Given the description of an element on the screen output the (x, y) to click on. 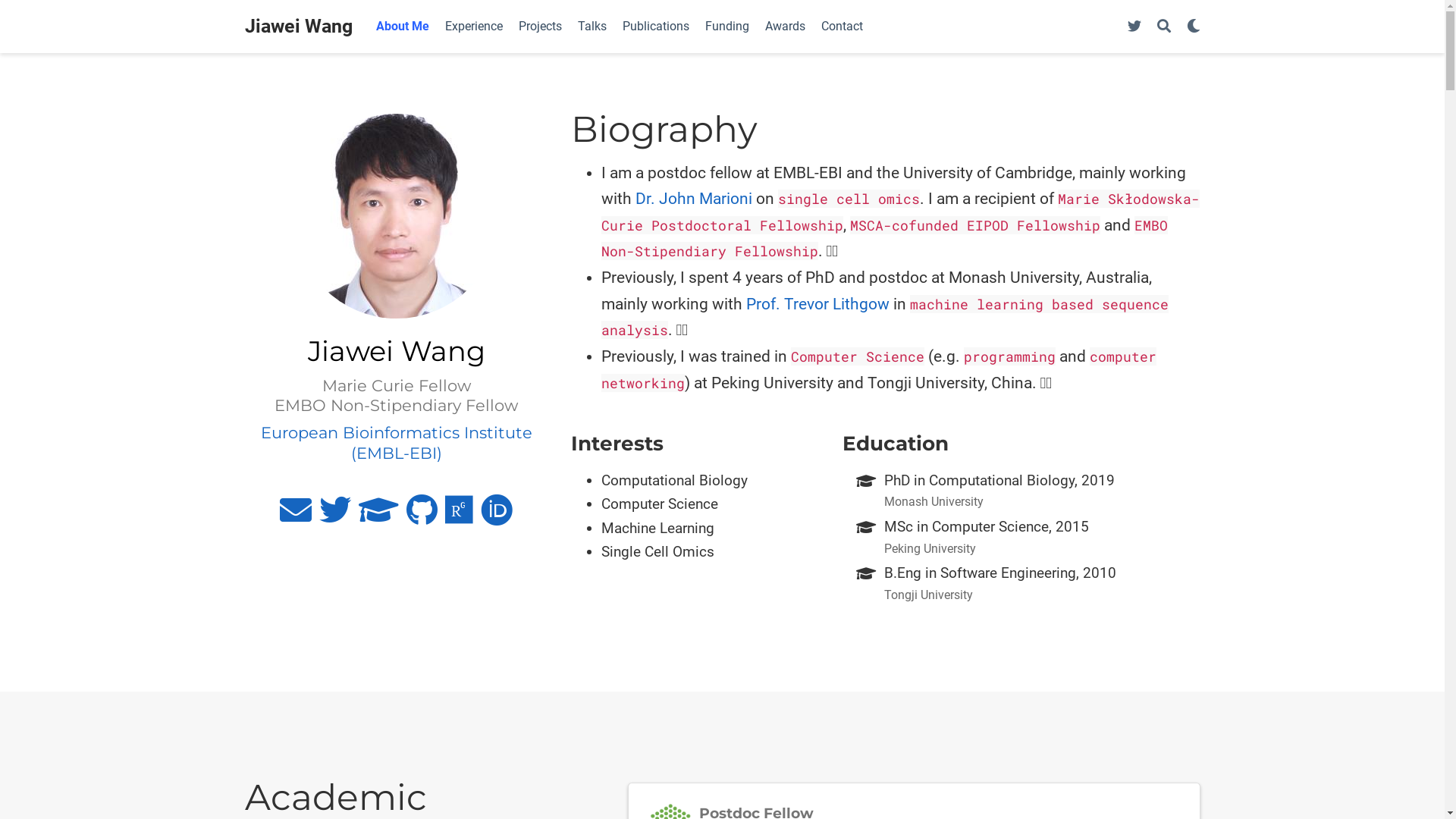
Prof. Trevor Lithgow Element type: text (817, 303)
Dr. John Marioni Element type: text (693, 198)
About Me Element type: text (402, 25)
Funding Element type: text (727, 25)
Awards Element type: text (784, 25)
Talks Element type: text (592, 25)
Experience Element type: text (473, 25)
Jiawei Wang Element type: text (297, 26)
European Bioinformatics Institute (EMBL-EBI) Element type: text (396, 442)
Projects Element type: text (540, 25)
Contact Element type: text (841, 25)
Publications Element type: text (655, 25)
